Given the description of an element on the screen output the (x, y) to click on. 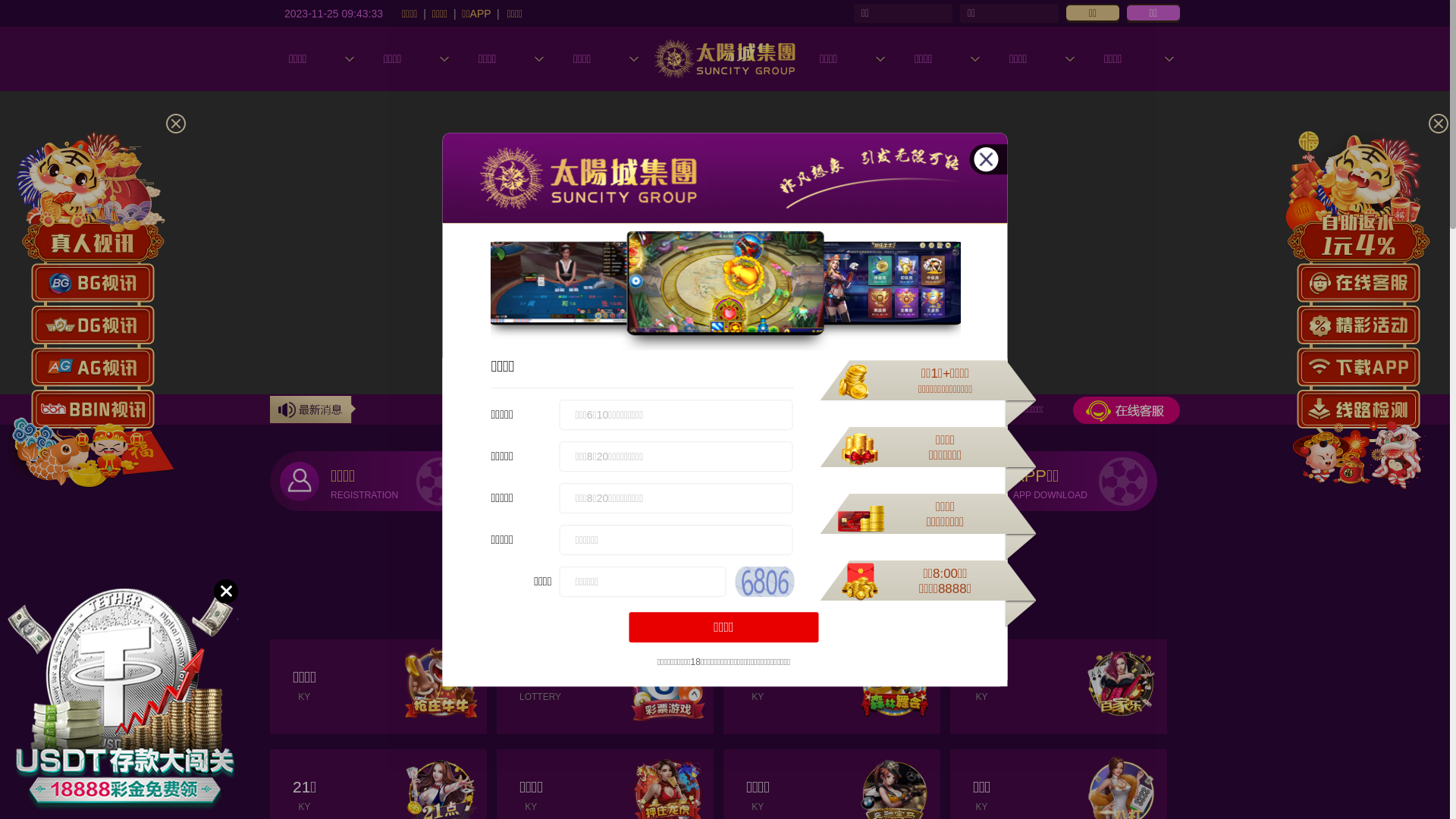
2023-11-25 09:43:31 Element type: text (333, 12)
